Given the description of an element on the screen output the (x, y) to click on. 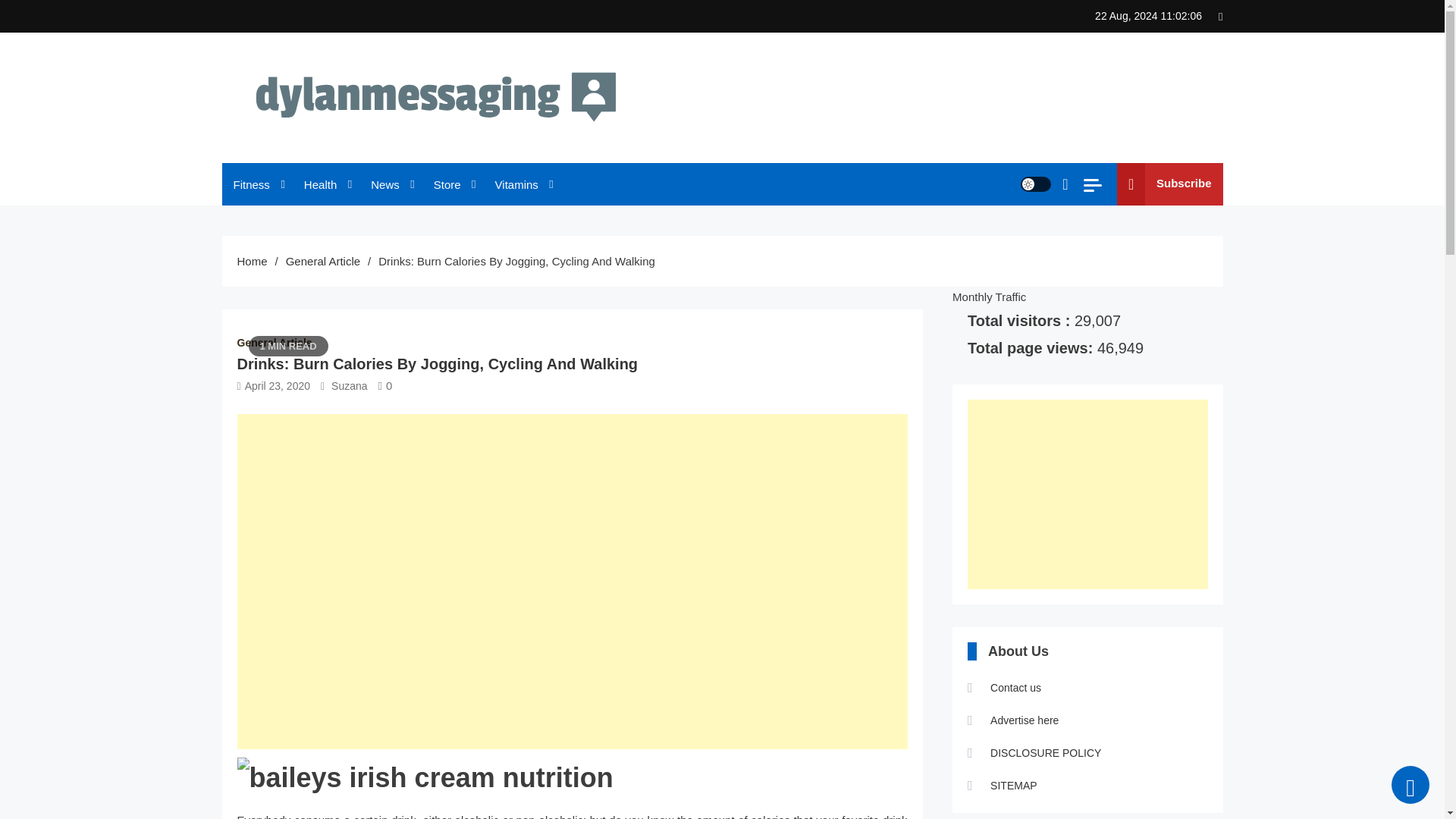
Health (325, 184)
Store (452, 184)
site mode button (1035, 183)
Fitness (256, 184)
Dylanmessaging (311, 164)
Advertisement (1087, 493)
Vitamins (521, 184)
News (390, 184)
Search (1026, 242)
